Given the description of an element on the screen output the (x, y) to click on. 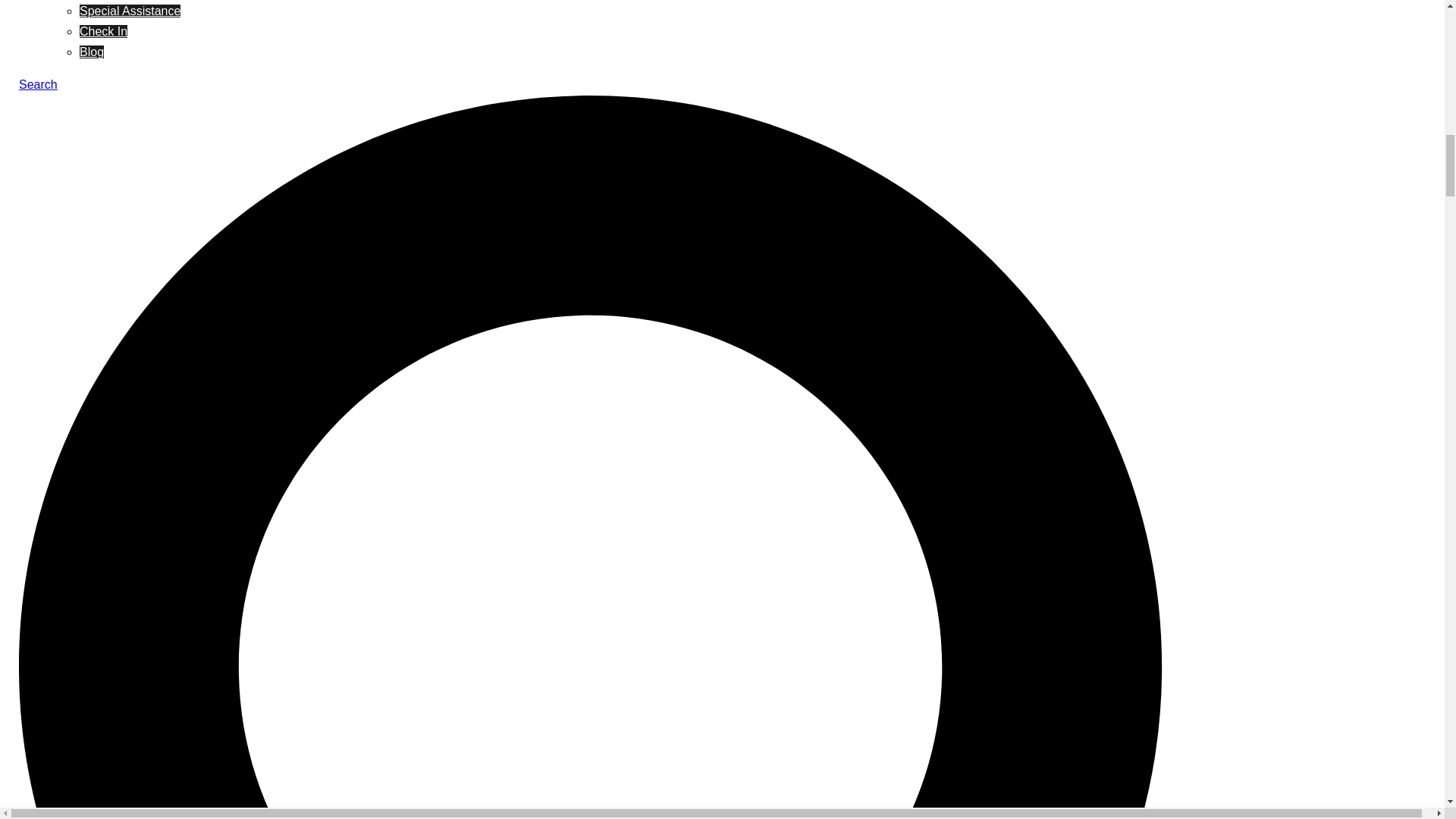
Special Assistance (130, 10)
Blog (91, 51)
Check In (104, 31)
